Given the description of an element on the screen output the (x, y) to click on. 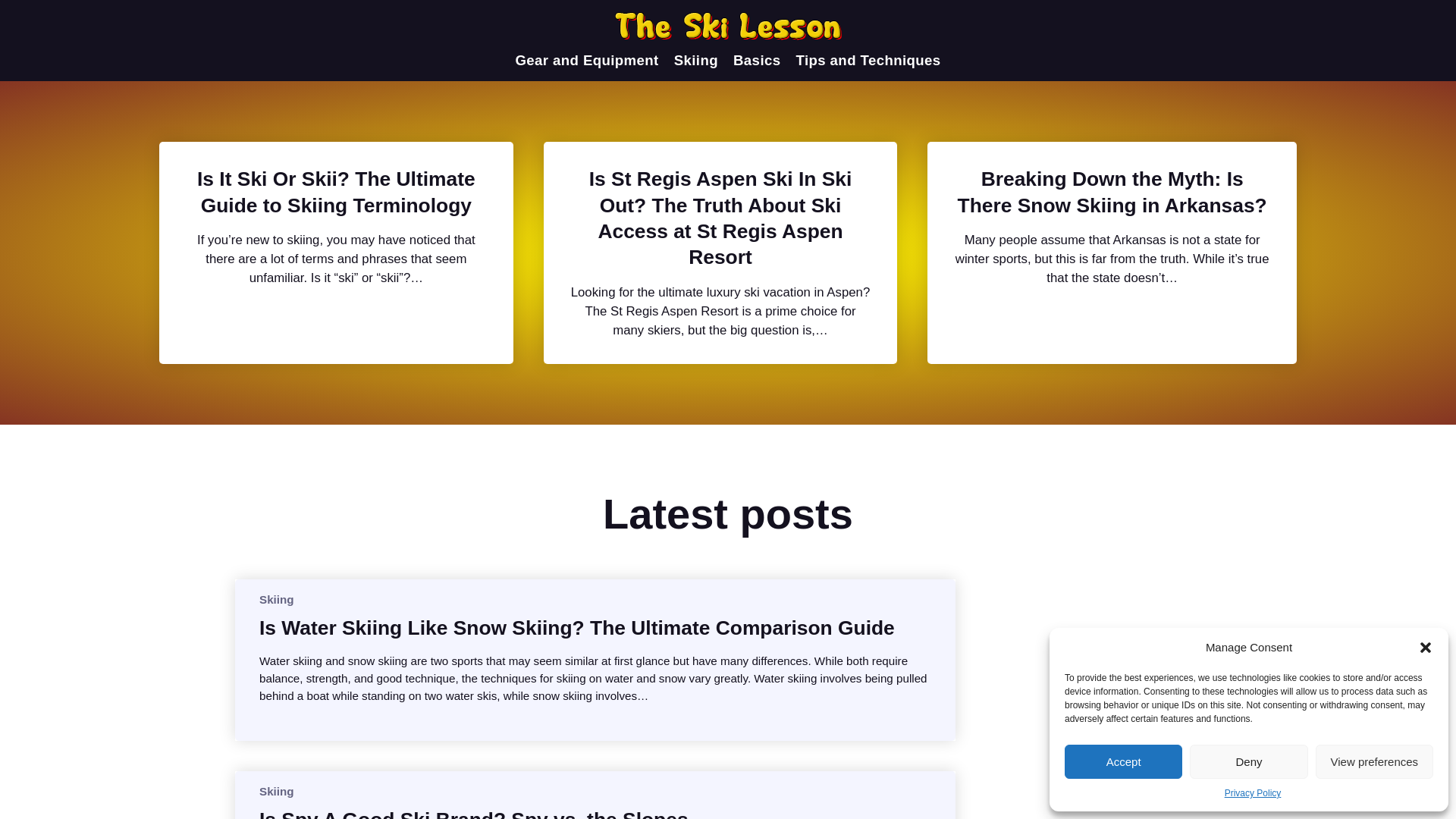
Basics (756, 60)
Gear and Equipment (586, 60)
Is Spy A Good Ski Brand? Spy vs. the Slopes (473, 812)
View preferences (1374, 761)
Advertisement (1106, 699)
Tips and Techniques (867, 60)
Skiing (695, 60)
Accept (1123, 761)
Breaking Down the Myth: Is There Snow Skiing in Arkansas? (1112, 192)
